Given the description of an element on the screen output the (x, y) to click on. 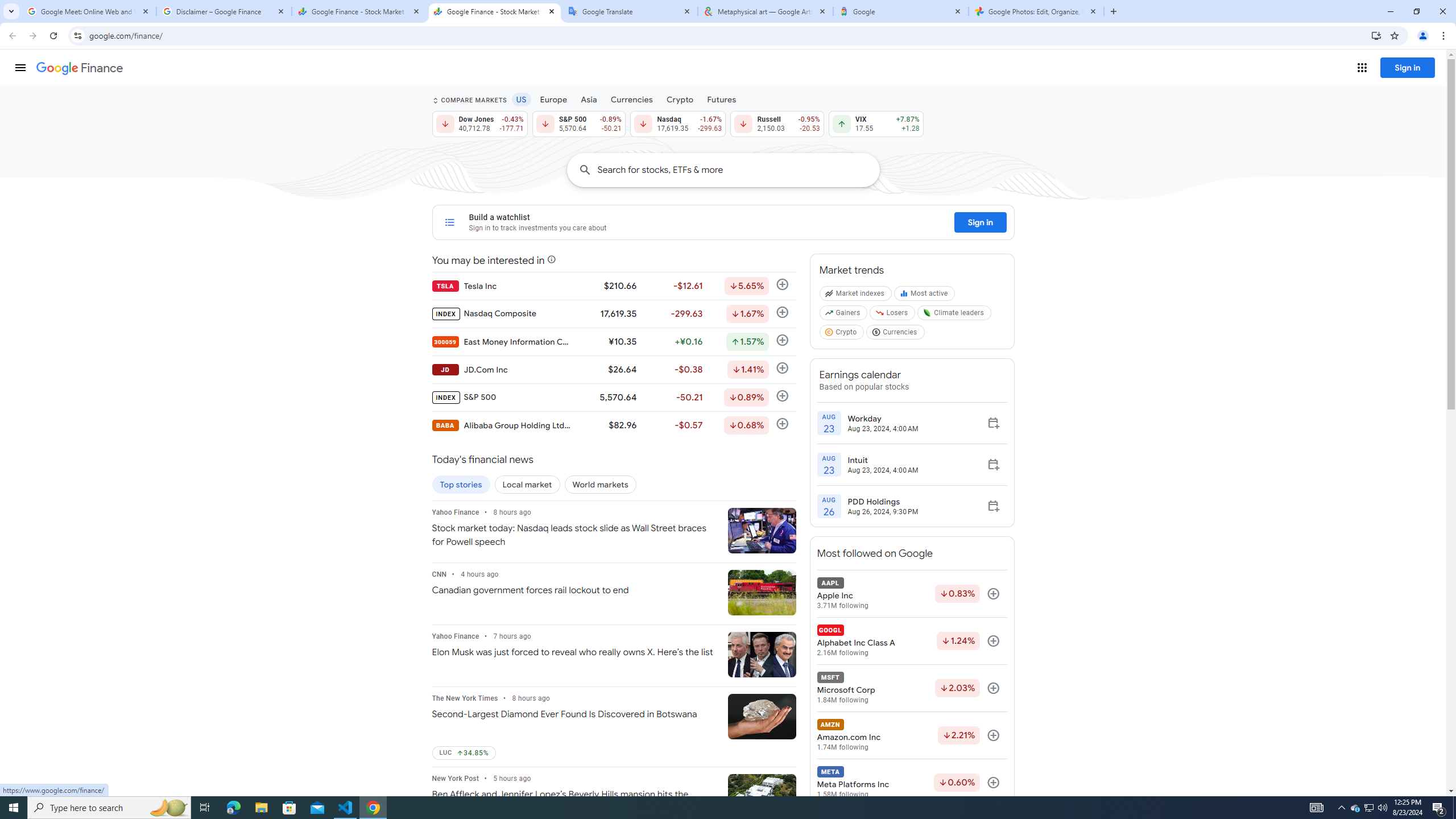
Currencies (896, 334)
US (521, 99)
Futures (721, 99)
JD JD.Com Inc $26.64 -$0.38 Down by 1.41% Follow (613, 369)
Workday (882, 418)
PDD Holdings (882, 501)
Crypto (842, 334)
Finance (79, 68)
